Given the description of an element on the screen output the (x, y) to click on. 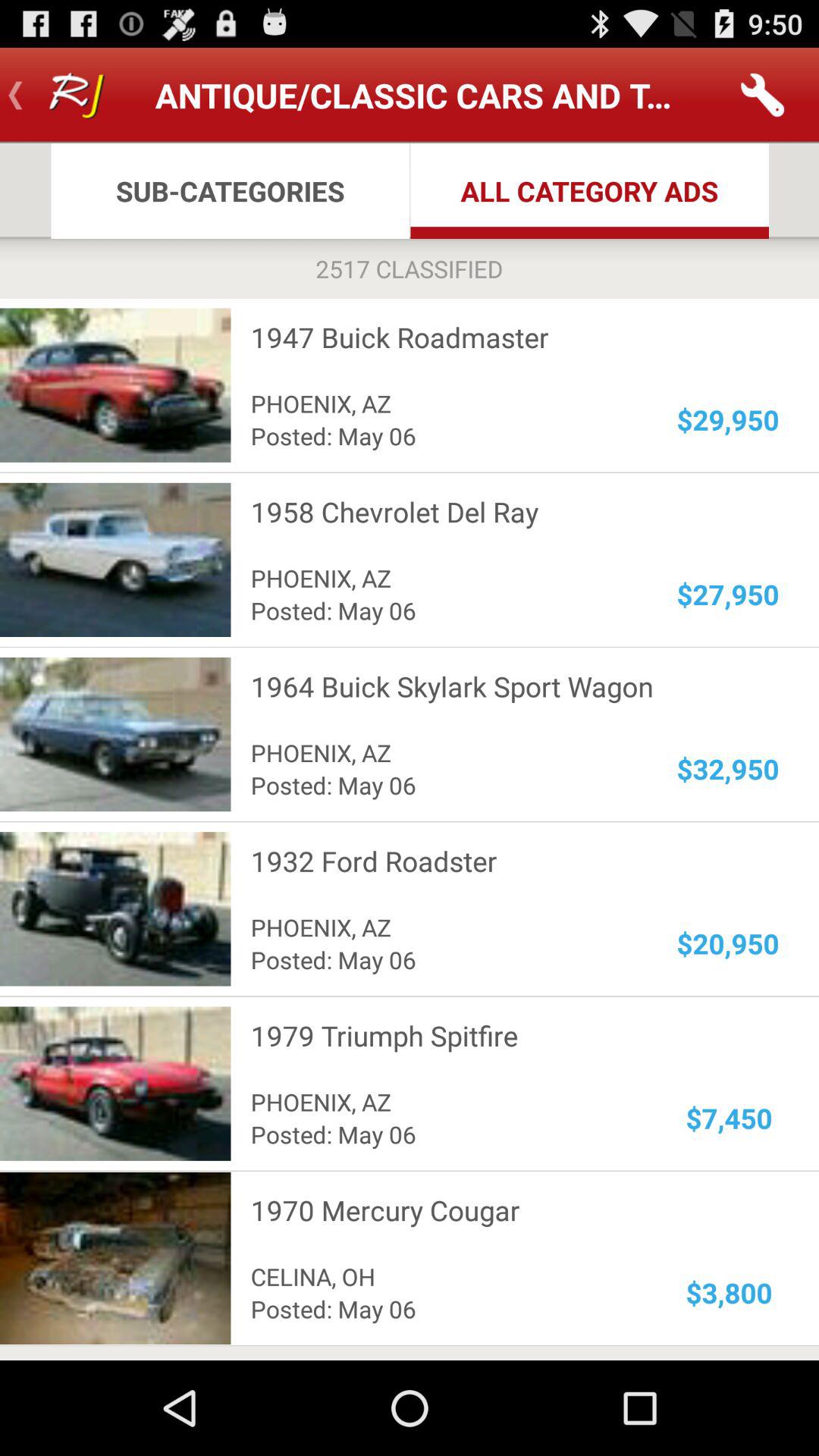
launch the icon above 1970 mercury cougar item (729, 1117)
